Given the description of an element on the screen output the (x, y) to click on. 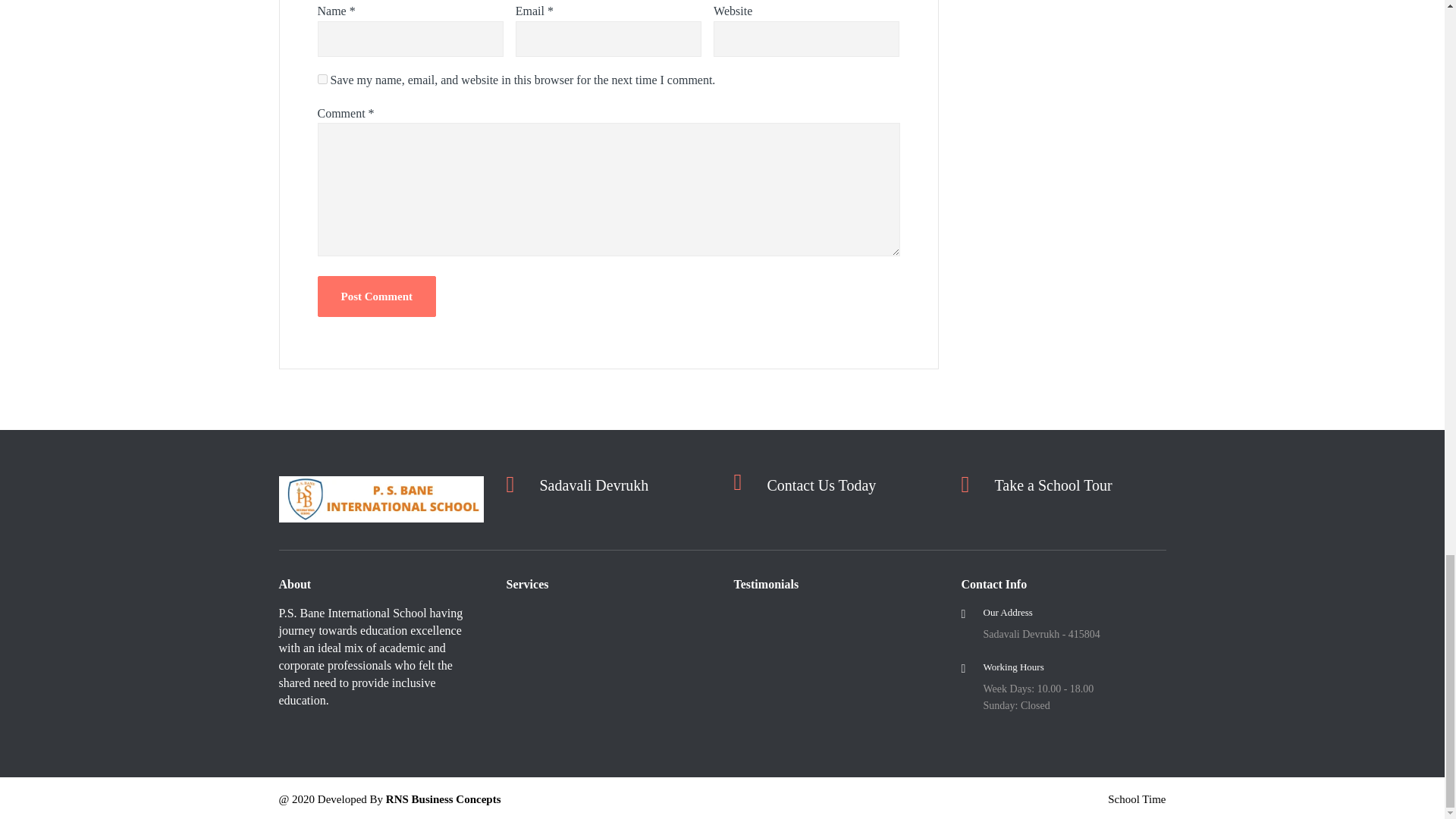
yes (321, 79)
Post Comment (376, 296)
